Given the description of an element on the screen output the (x, y) to click on. 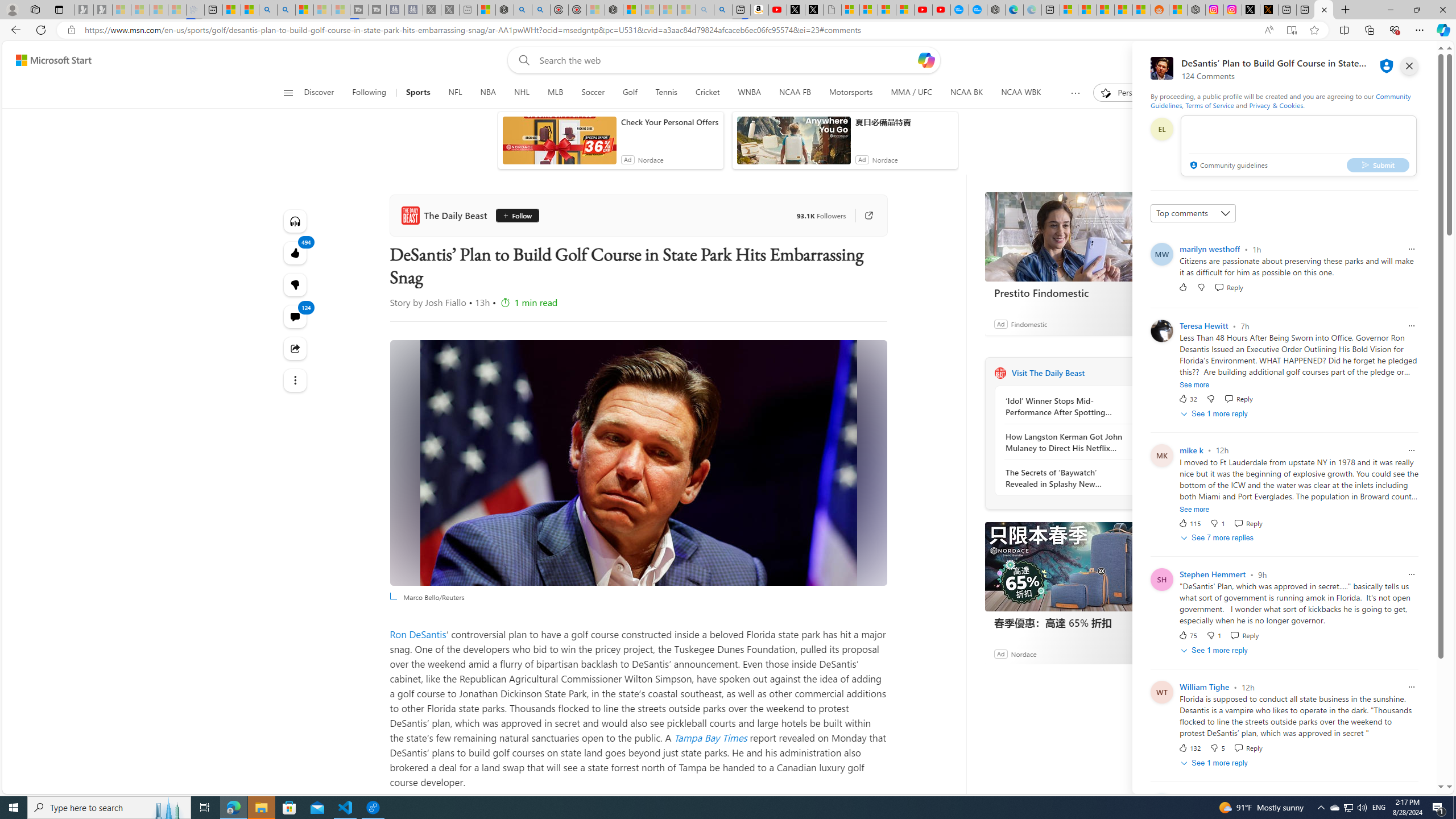
Go to publisher's site (863, 215)
Cricket (707, 92)
Tennis (666, 92)
Motorsports (851, 92)
Shanghai, China Weather trends | Microsoft Weather (1142, 9)
Submit (1377, 164)
Feedback (1402, 784)
mark oconnor (1204, 799)
Profile Picture (1161, 330)
Gloom - YouTube (923, 9)
Prestito Findomestic (1069, 292)
Discover (323, 92)
Check Your Personal Offers (669, 121)
